Given the description of an element on the screen output the (x, y) to click on. 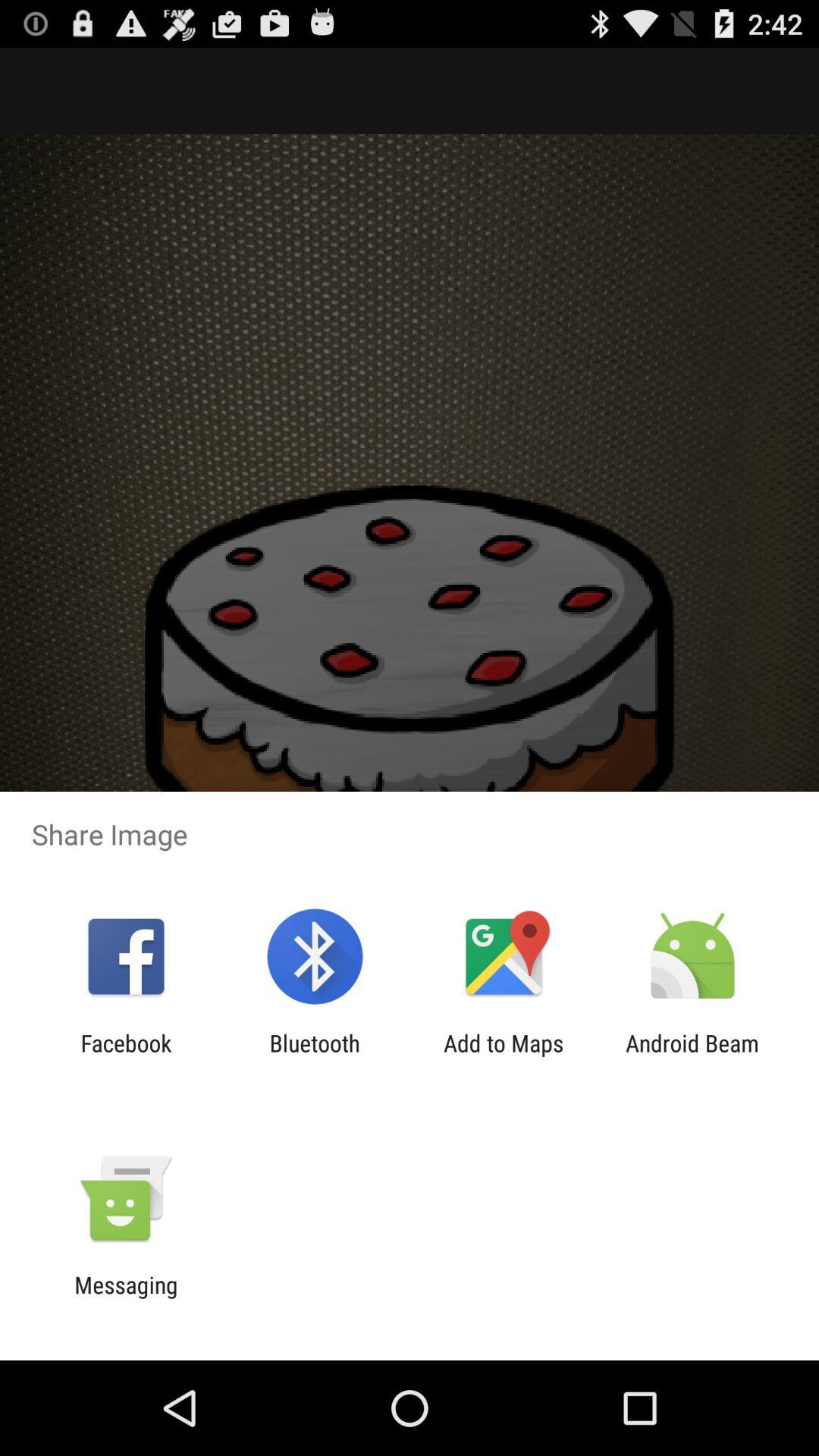
tap the app next to add to maps app (692, 1056)
